Given the description of an element on the screen output the (x, y) to click on. 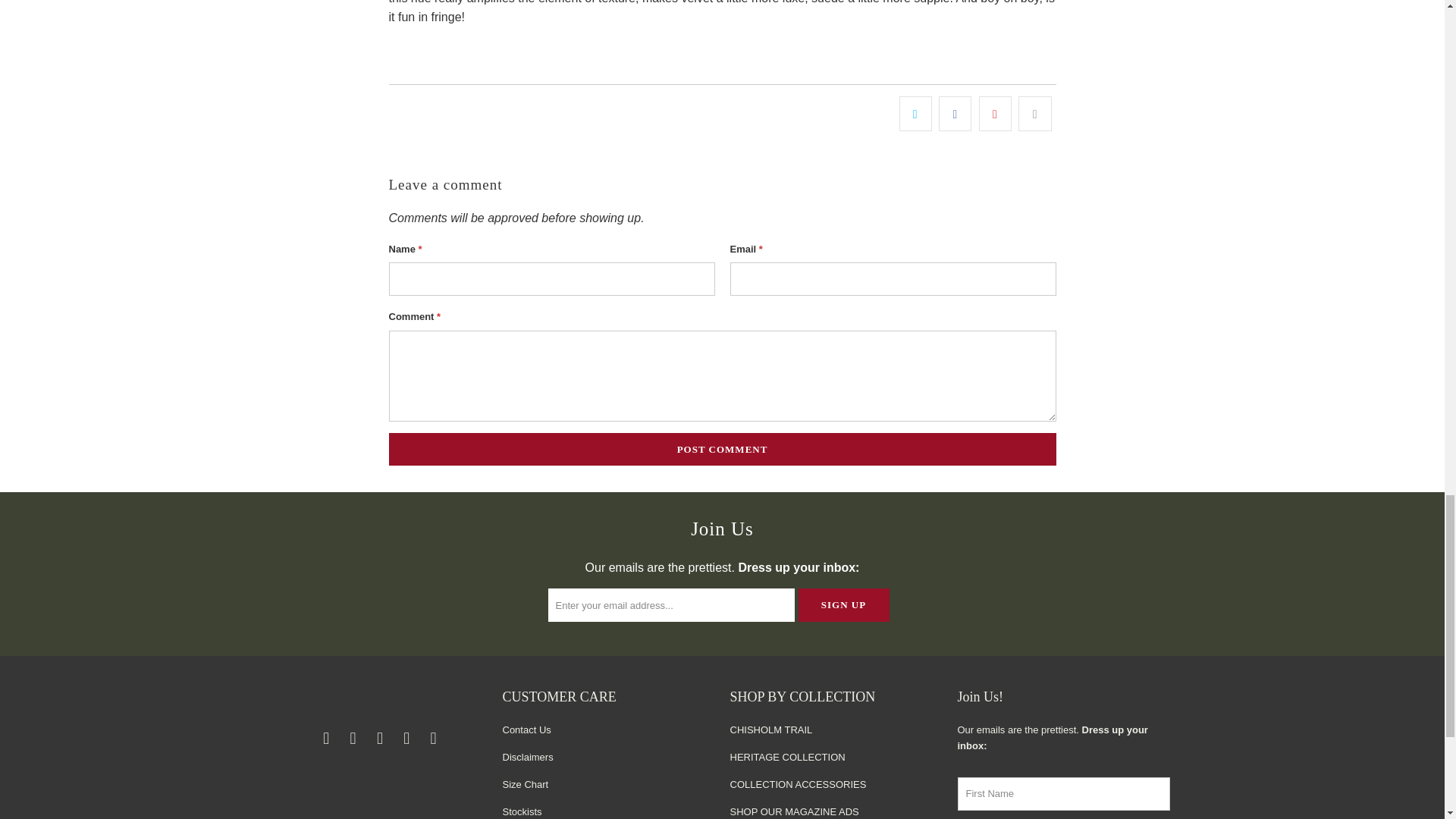
Post comment (721, 449)
Sign Up (842, 604)
